Given the description of an element on the screen output the (x, y) to click on. 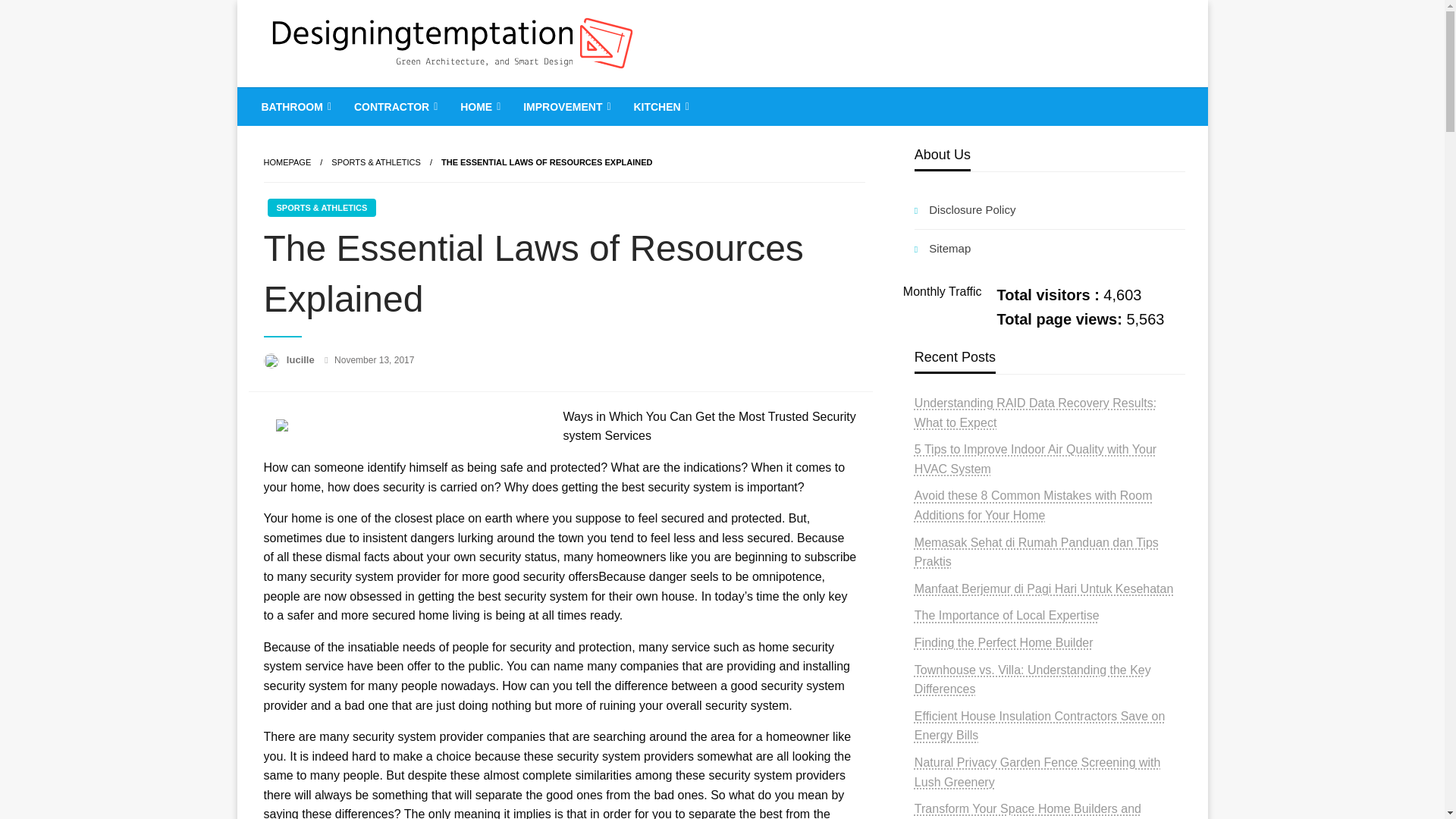
HOME (478, 106)
CONTRACTOR (393, 106)
lucille (301, 359)
IMPROVEMENT (565, 106)
The Essential Laws of Resources Explained (546, 162)
KITCHEN (659, 106)
lucille (301, 359)
November 13, 2017 (373, 359)
Designingtemptation (401, 99)
HOMEPAGE (287, 162)
